Given the description of an element on the screen output the (x, y) to click on. 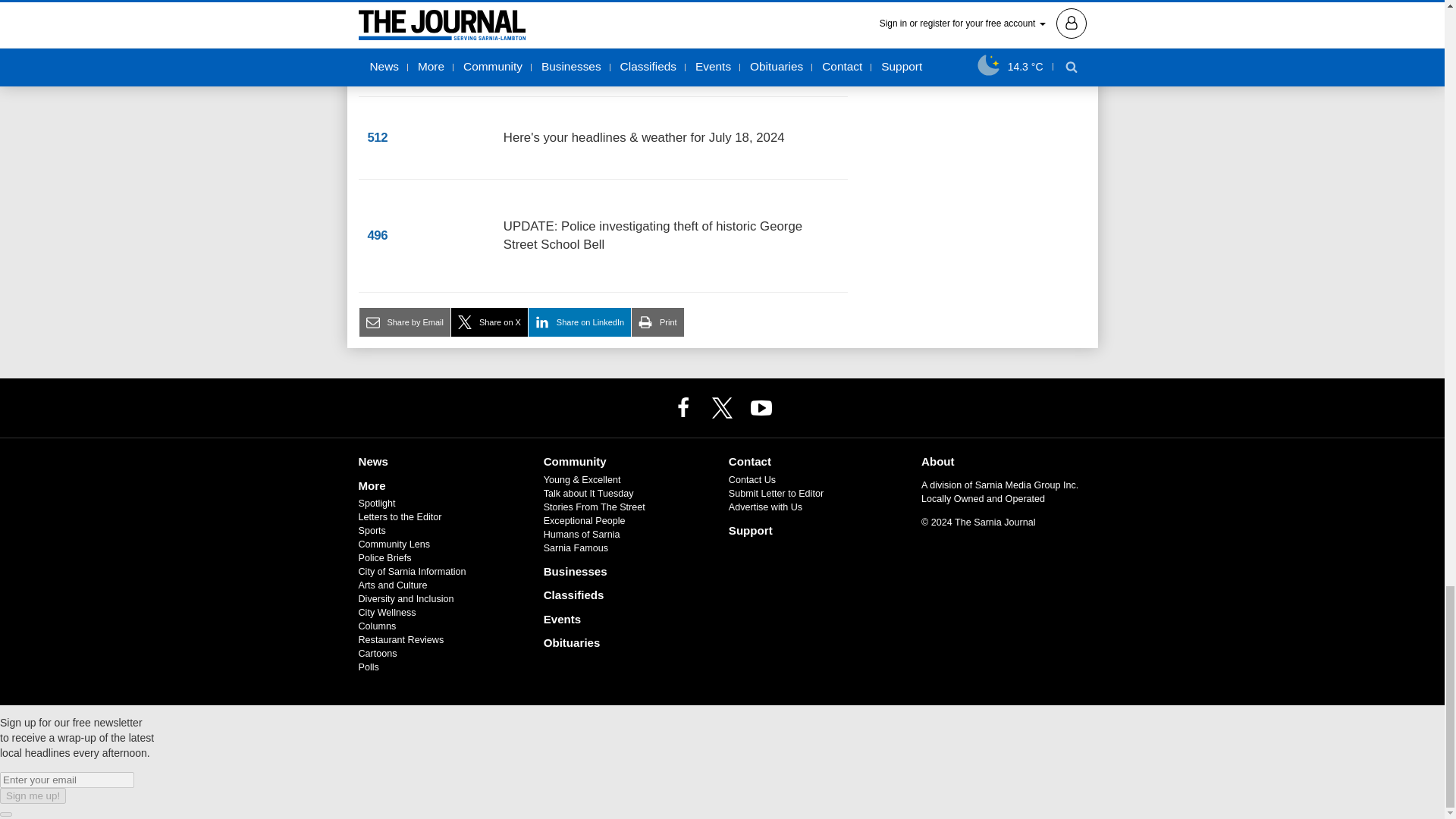
Facebook (683, 407)
X (721, 407)
YouTube (760, 407)
